Given the description of an element on the screen output the (x, y) to click on. 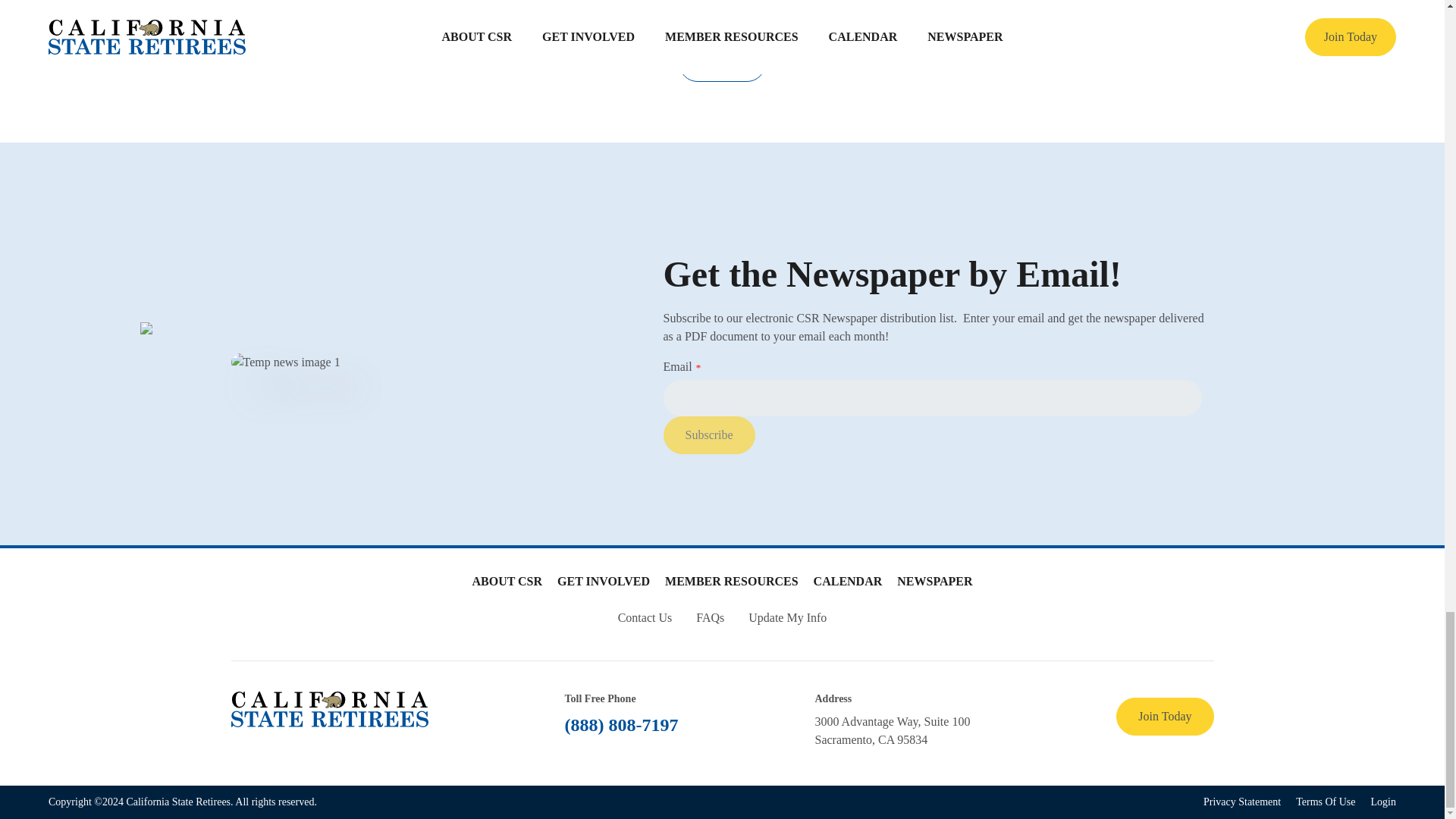
Login (1383, 801)
MONTEREY BAY AREA: Chapter 36 Meeting in Santa Cruz (721, 9)
California State Retirees (329, 707)
Subscribe (708, 435)
